Given the description of an element on the screen output the (x, y) to click on. 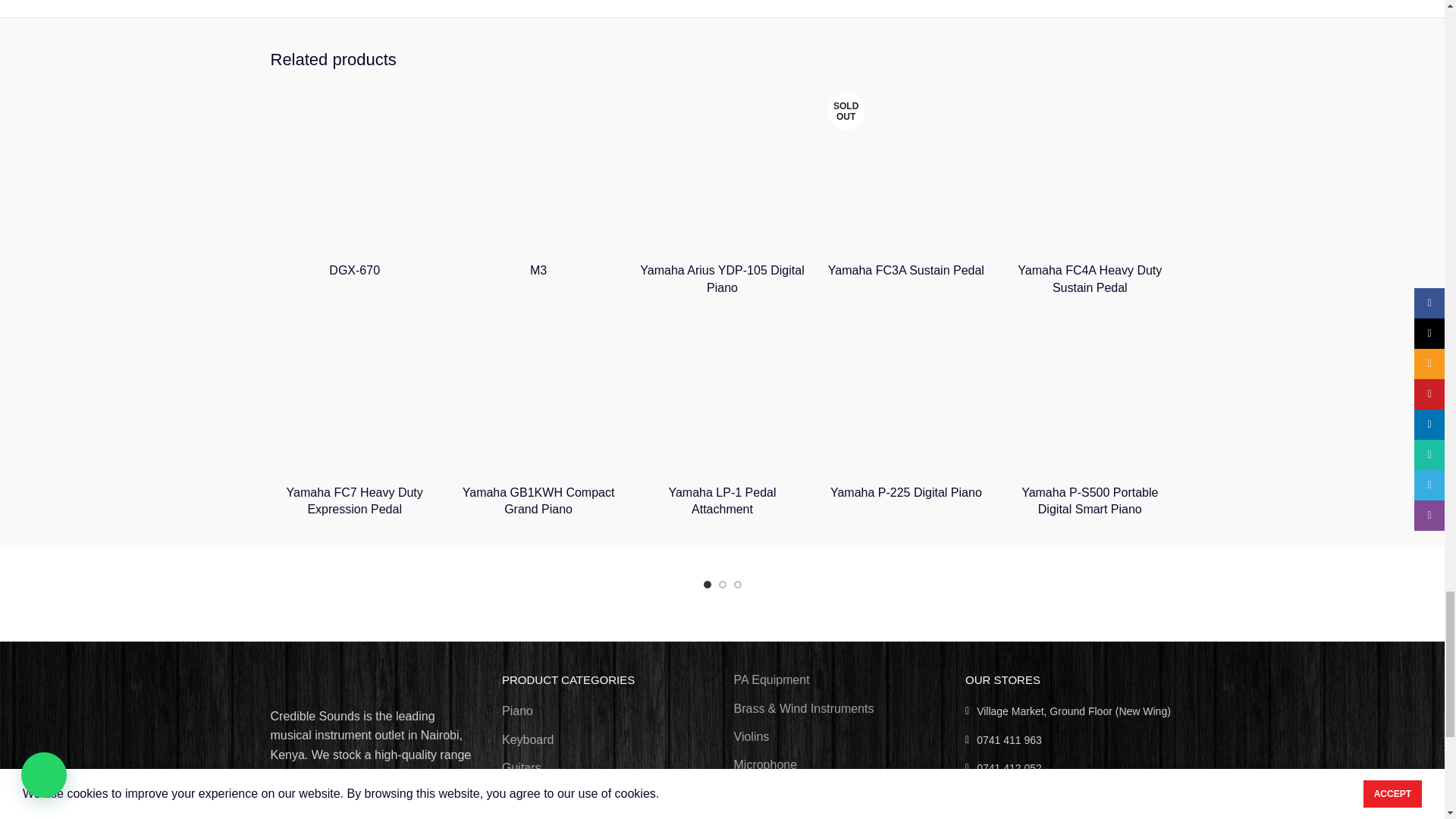
0741412052 (1069, 768)
Find us on Google map (1069, 817)
0741411963 (1069, 740)
